Given the description of an element on the screen output the (x, y) to click on. 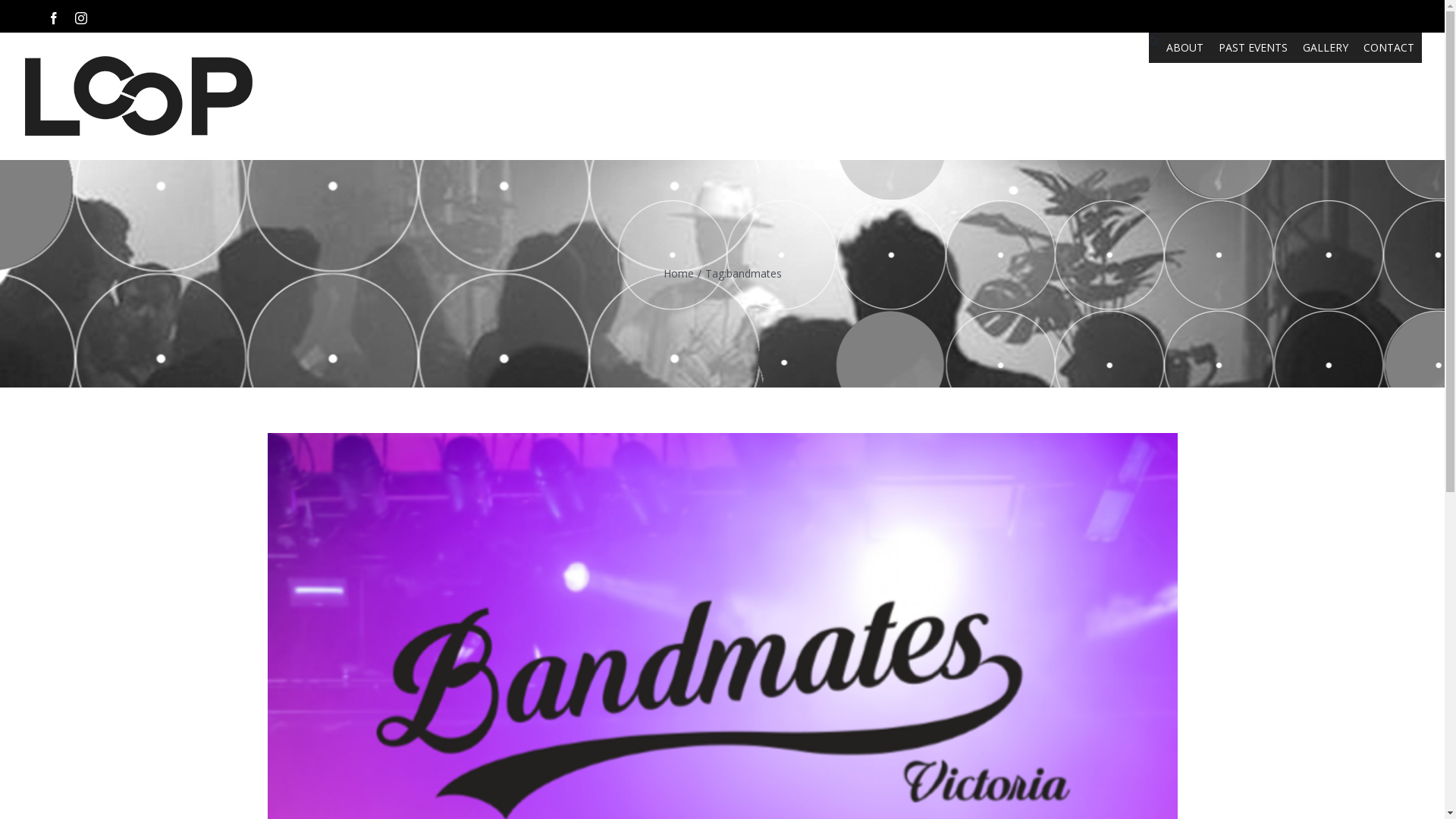
GALLERY Element type: text (1325, 47)
ABOUT Element type: text (1184, 47)
Search Element type: hover (1153, 41)
Home Element type: text (677, 273)
CONTACT Element type: text (1388, 47)
PAST EVENTS Element type: text (1253, 47)
Instagram Element type: text (81, 18)
Facebook Element type: text (53, 18)
